Given the description of an element on the screen output the (x, y) to click on. 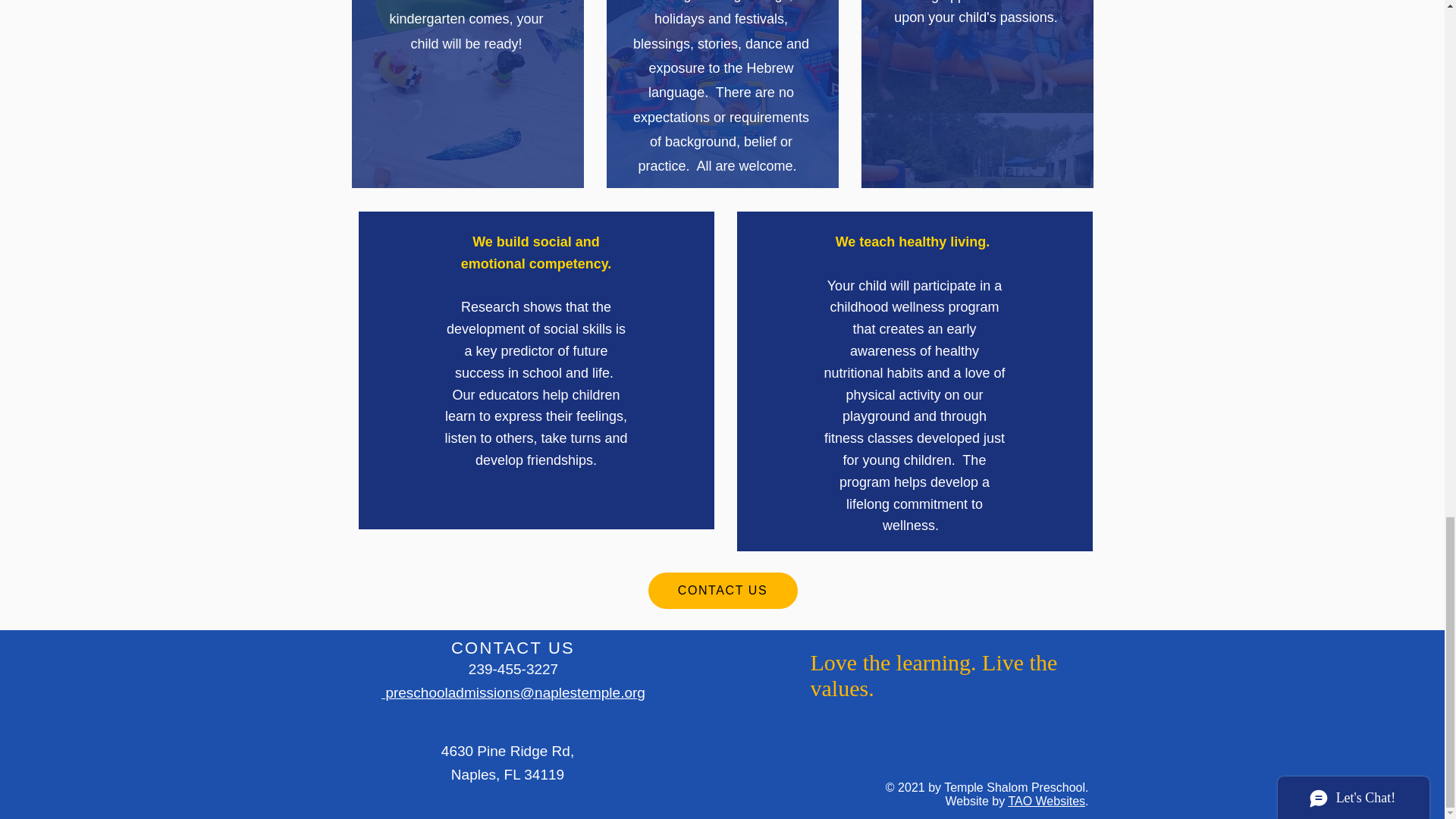
CONTACT US (721, 590)
TAO Websites (1045, 800)
239-455-3227 (512, 668)
